Given the description of an element on the screen output the (x, y) to click on. 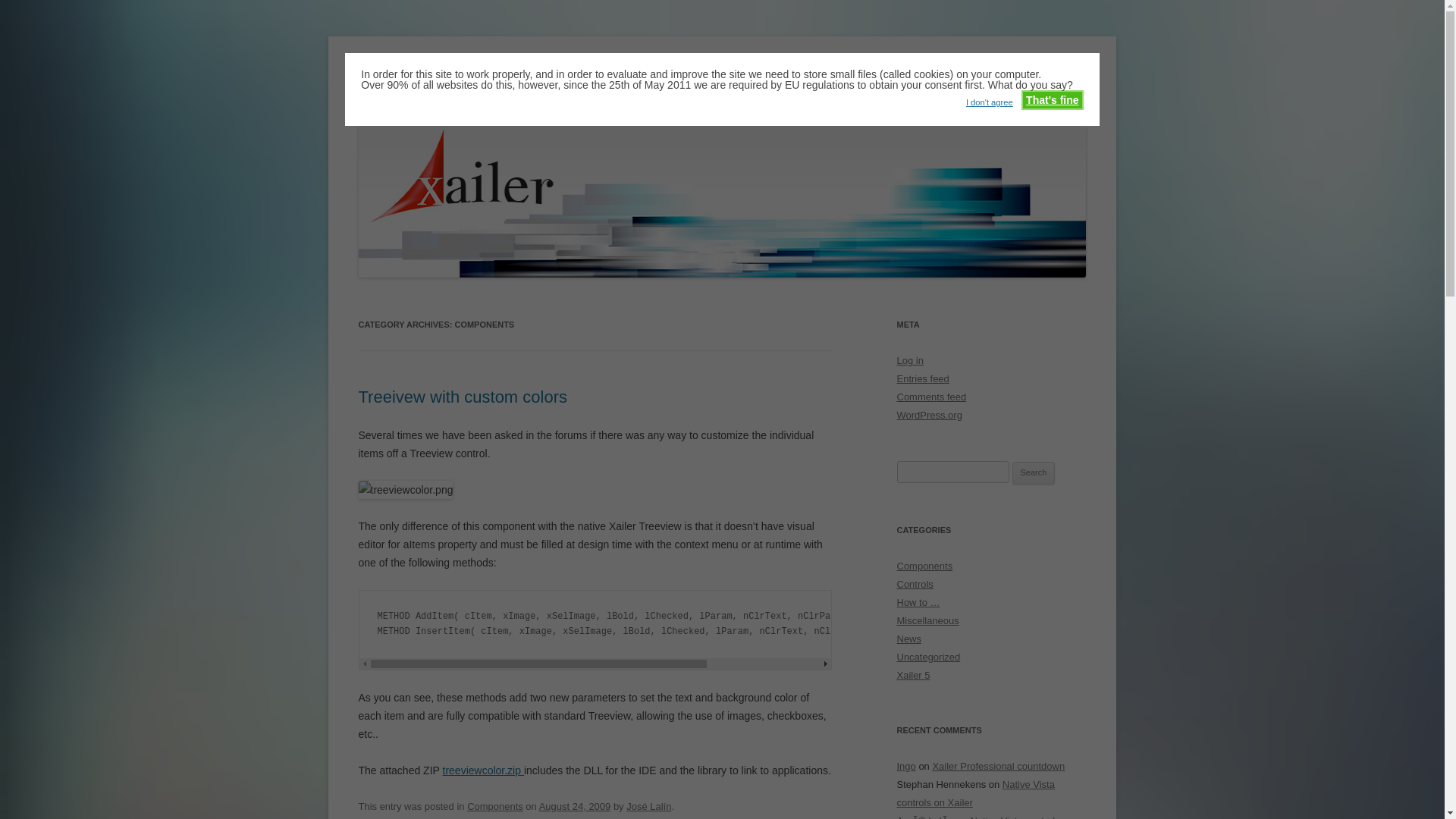
10:56 pm (574, 806)
Miscellaneous (927, 620)
Treeivew with custom colors (462, 396)
Components (924, 565)
Log in (909, 360)
Comments feed (931, 396)
August 24, 2009 (574, 806)
Search (1033, 472)
That's fine (1052, 99)
